Given the description of an element on the screen output the (x, y) to click on. 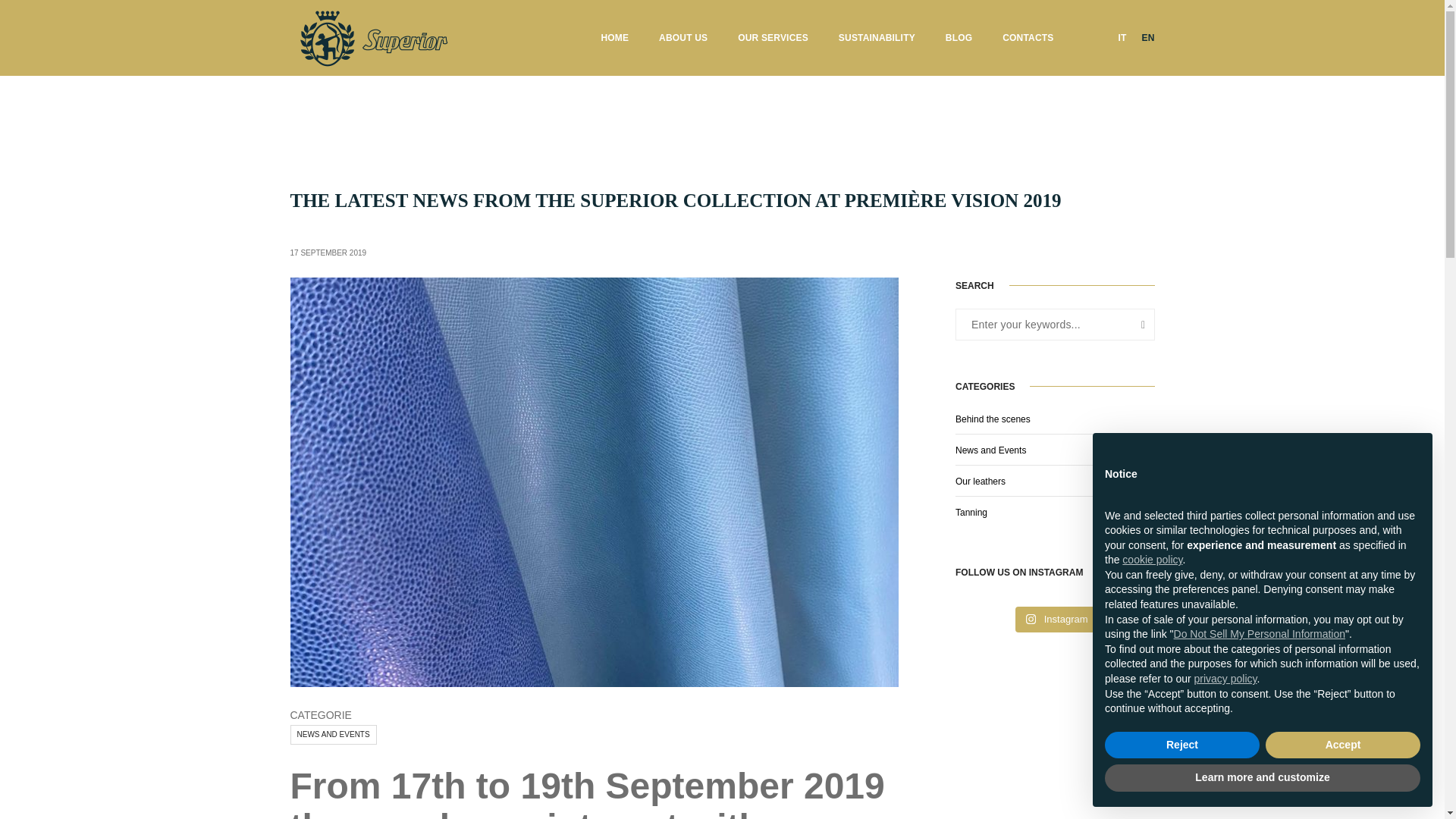
Tanning (971, 511)
ABOUT US (683, 37)
NEWS AND EVENTS (332, 734)
Our leathers (980, 480)
Instagram (1056, 619)
News and Events (990, 450)
SUSTAINABILITY (876, 37)
CONTACTS (1027, 37)
Conceria Superior (372, 37)
Behind the scenes (992, 419)
OUR SERVICES (773, 37)
